Given the description of an element on the screen output the (x, y) to click on. 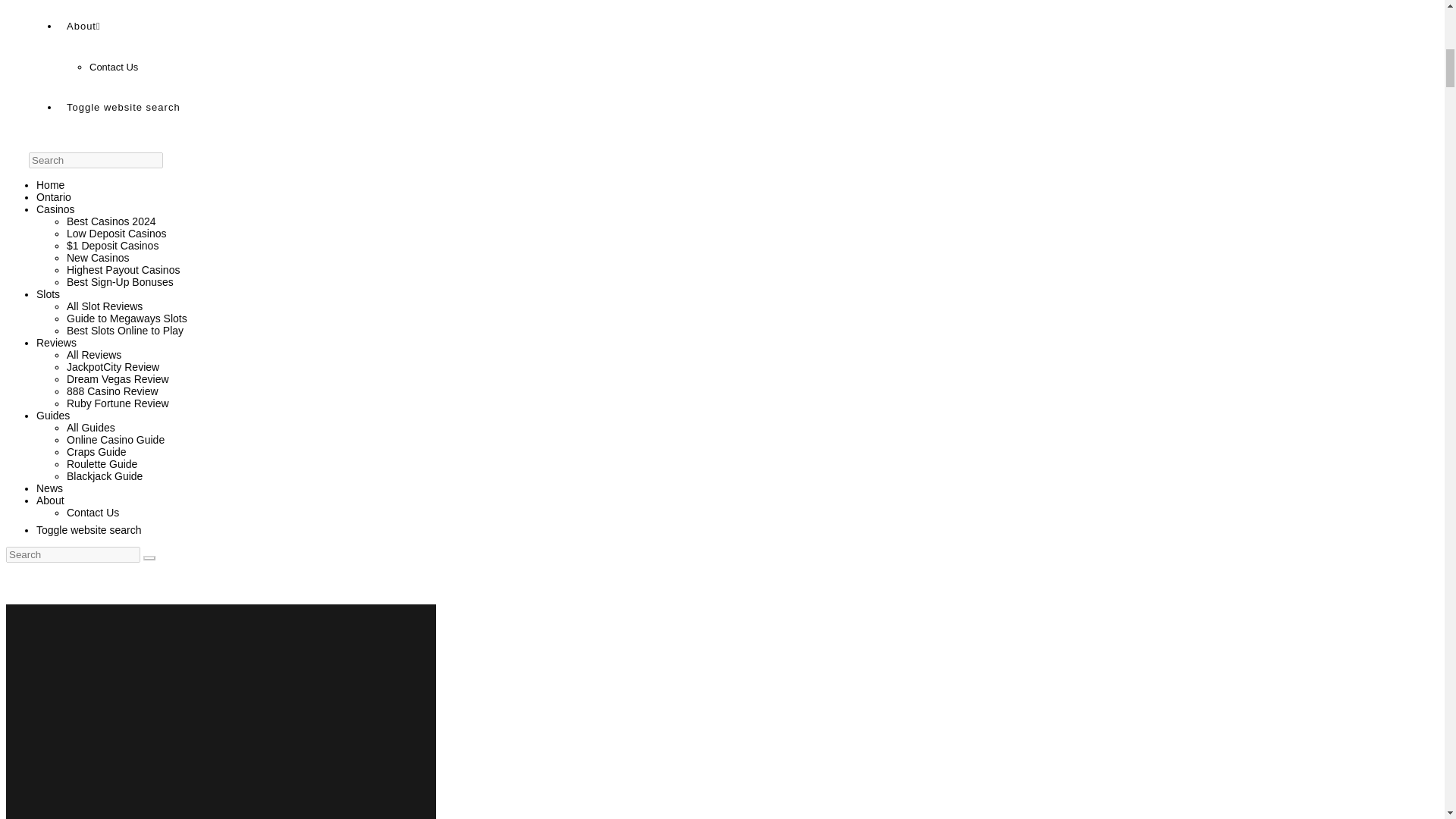
About (83, 25)
Toggle website search (131, 106)
Low Deposit Casinos (116, 233)
Ontario (53, 196)
Casinos (55, 209)
Best Casinos 2024 (110, 221)
Home (50, 184)
New Casinos (97, 257)
Contact Us (113, 66)
Highest Payout Casinos (122, 269)
